Given the description of an element on the screen output the (x, y) to click on. 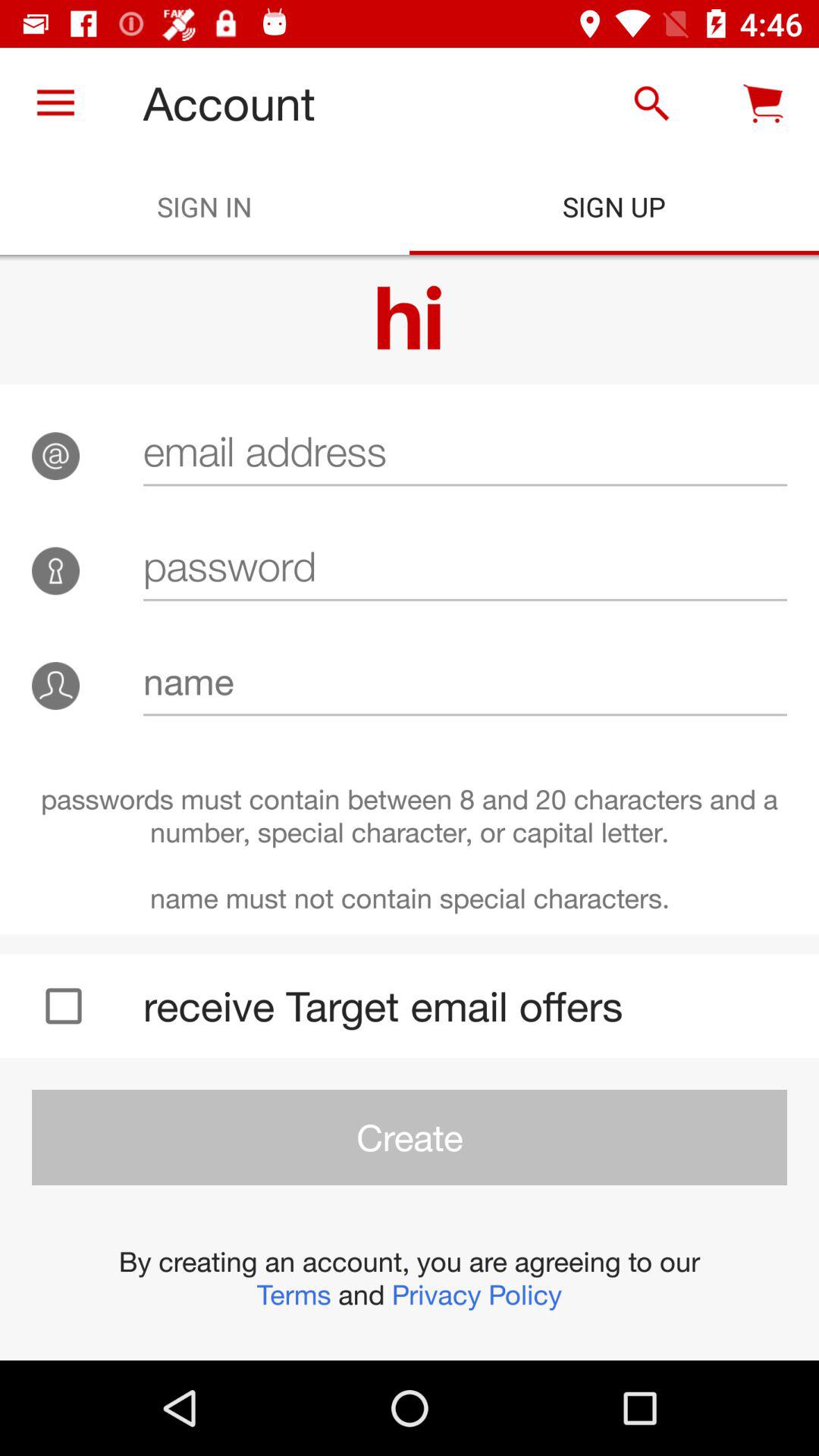
select the create item (409, 1137)
